Given the description of an element on the screen output the (x, y) to click on. 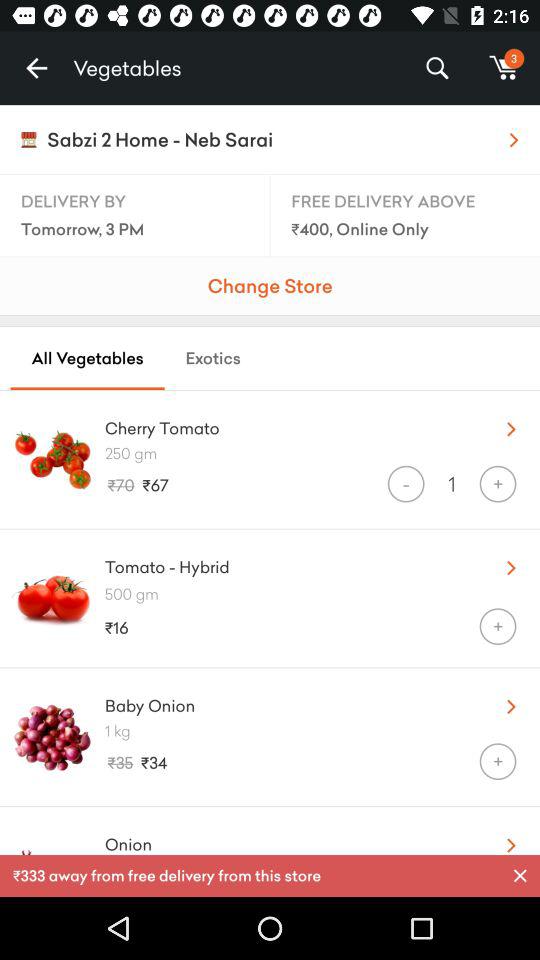
press the item next to the 333 away from (520, 875)
